Given the description of an element on the screen output the (x, y) to click on. 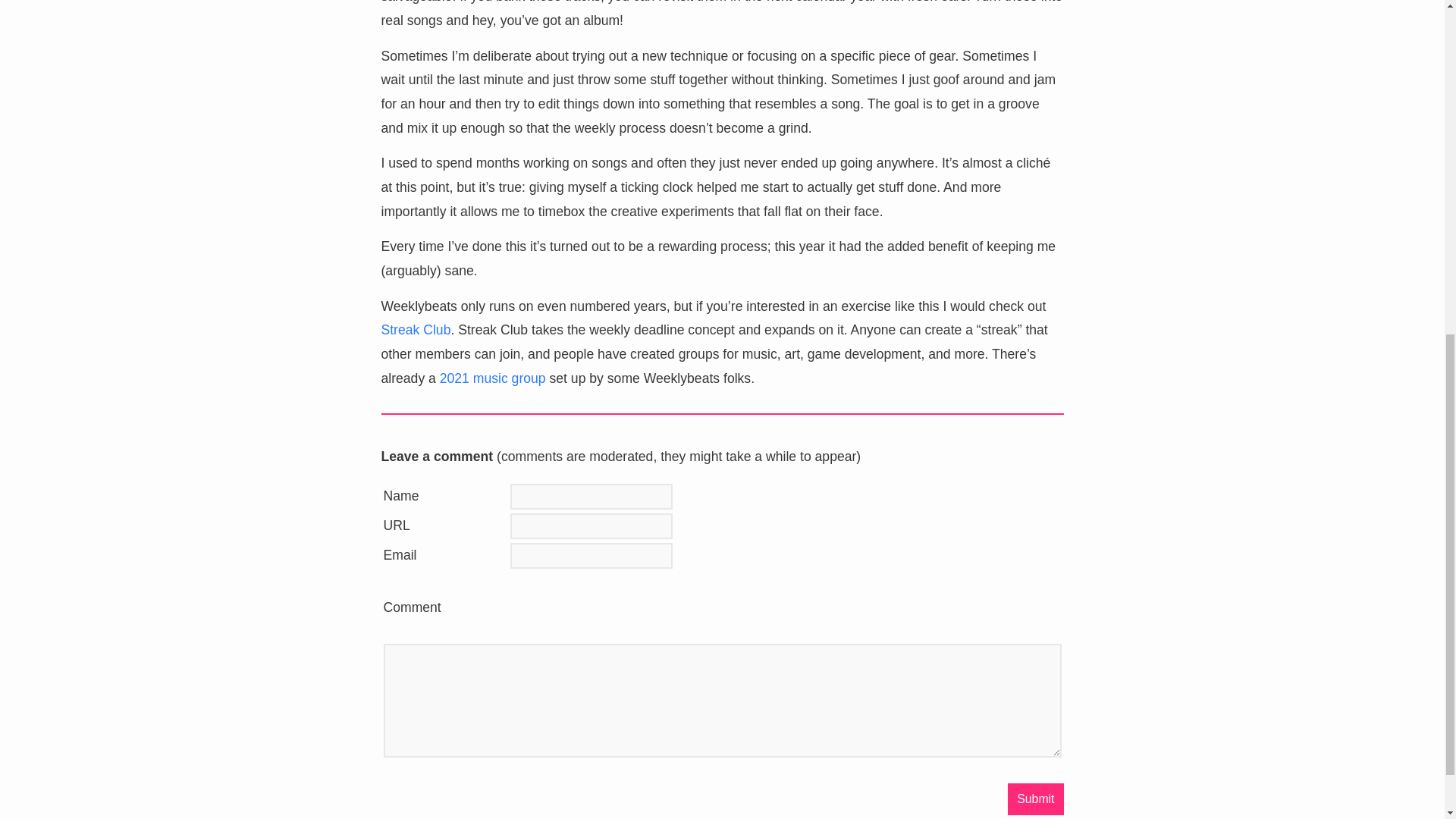
2021 music group (492, 378)
Streak Club (414, 329)
Submit (1034, 798)
